Given the description of an element on the screen output the (x, y) to click on. 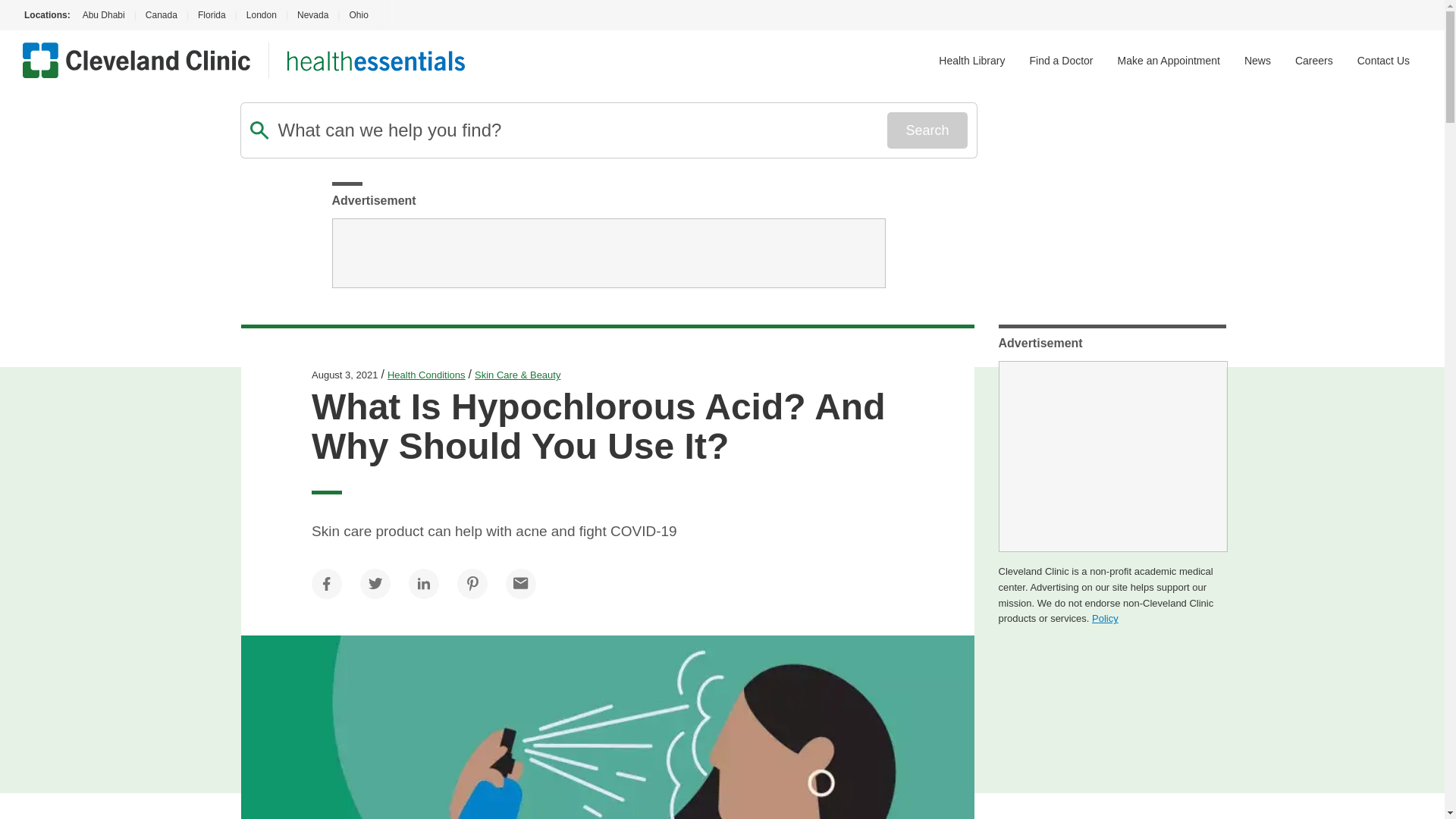
Find a Doctor (1061, 60)
Florida (211, 15)
Nevada (312, 15)
Contact Us (1382, 60)
Ohio (358, 15)
News (1257, 60)
Careers (1314, 60)
Canada (161, 15)
Health Library (971, 60)
3rd party ad content (608, 253)
3rd party ad content (1112, 456)
Health Conditions (426, 374)
London (261, 15)
Abu Dhabi (101, 15)
Policy (1105, 618)
